Given the description of an element on the screen output the (x, y) to click on. 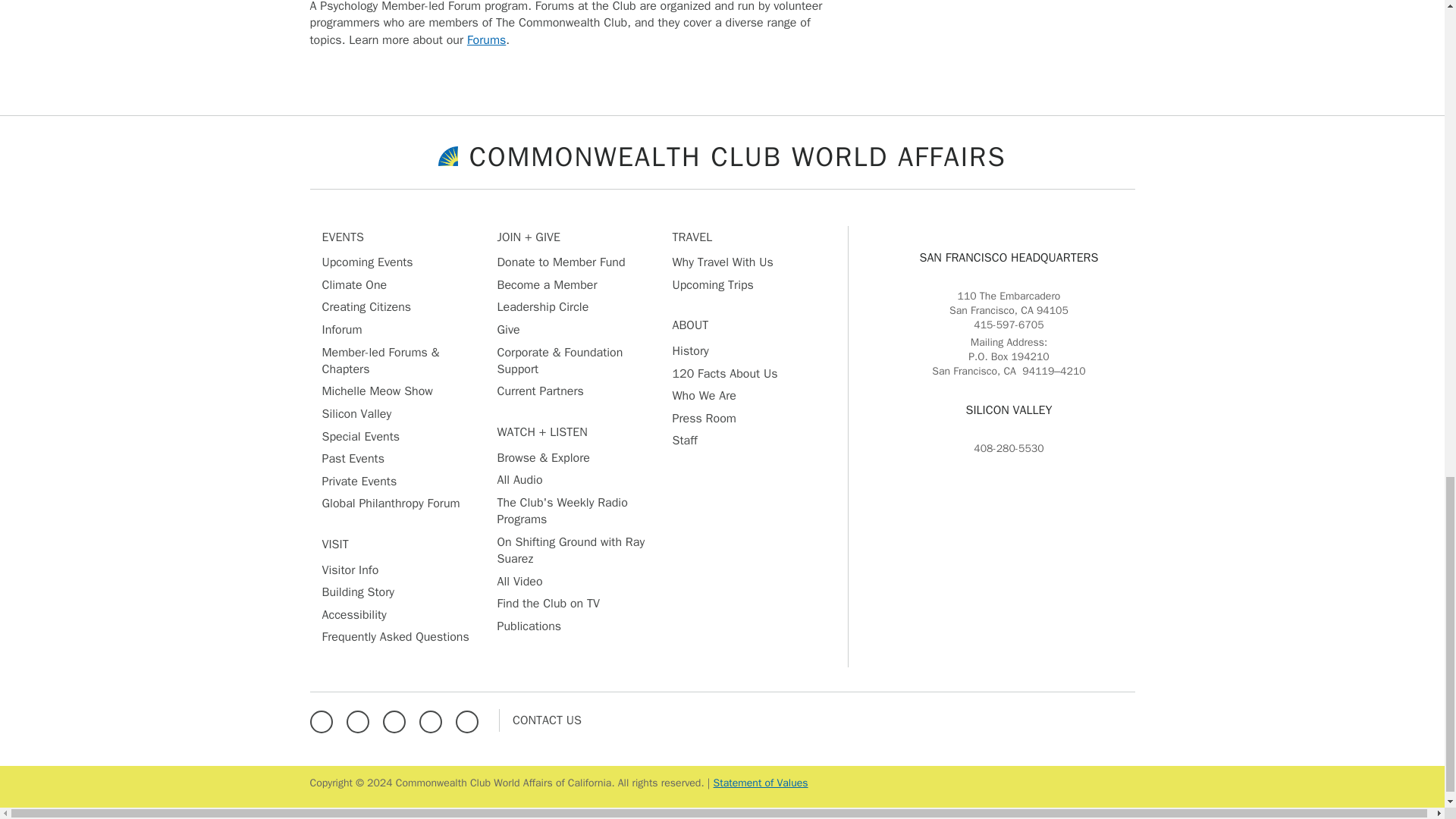
X (361, 719)
YouTube (470, 719)
Instagram (397, 719)
Member and Guest Policy (760, 782)
Linkedin (434, 719)
Facebook (323, 719)
